Given the description of an element on the screen output the (x, y) to click on. 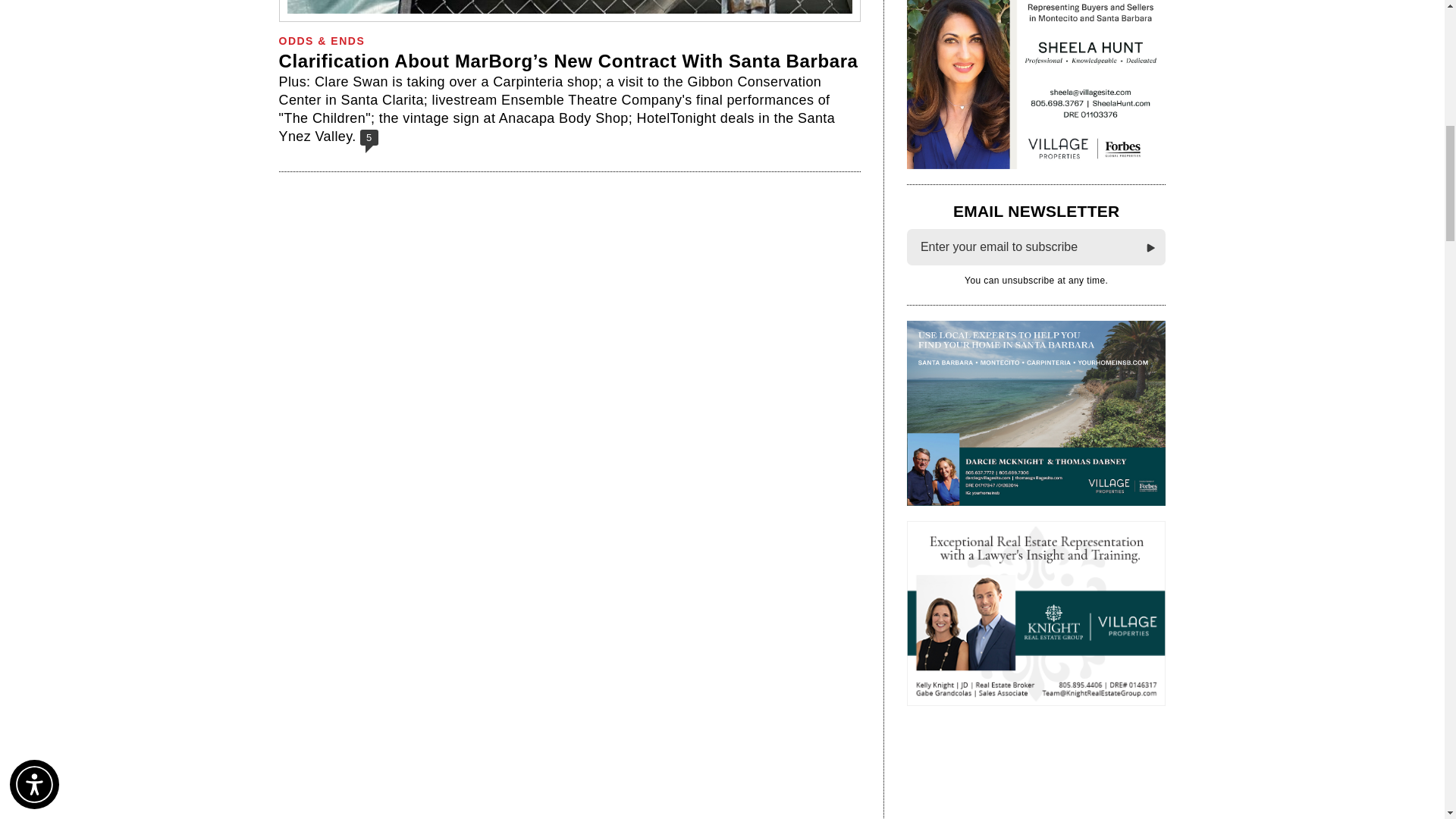
Knight Real Estate Group (1036, 612)
Hayes Commercial Group (1020, 770)
Sheela Hunt (1036, 84)
5 (368, 136)
